Given the description of an element on the screen output the (x, y) to click on. 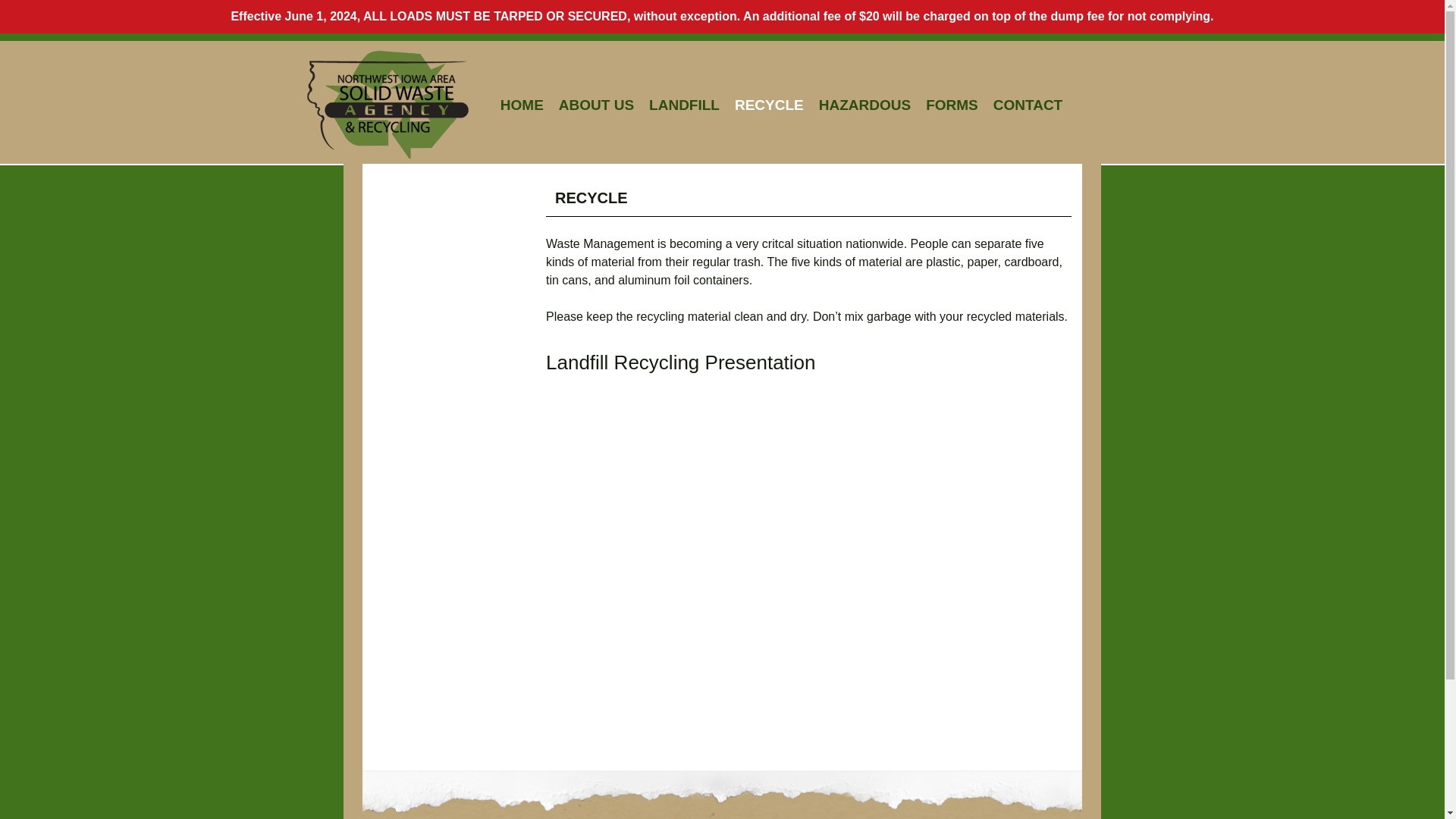
HAZARDOUS (864, 108)
HOME (522, 108)
RECYCLE (768, 108)
FORMS (951, 108)
ABOUT US (596, 108)
LANDFILL (684, 108)
CONTACT (1027, 108)
